Given the description of an element on the screen output the (x, y) to click on. 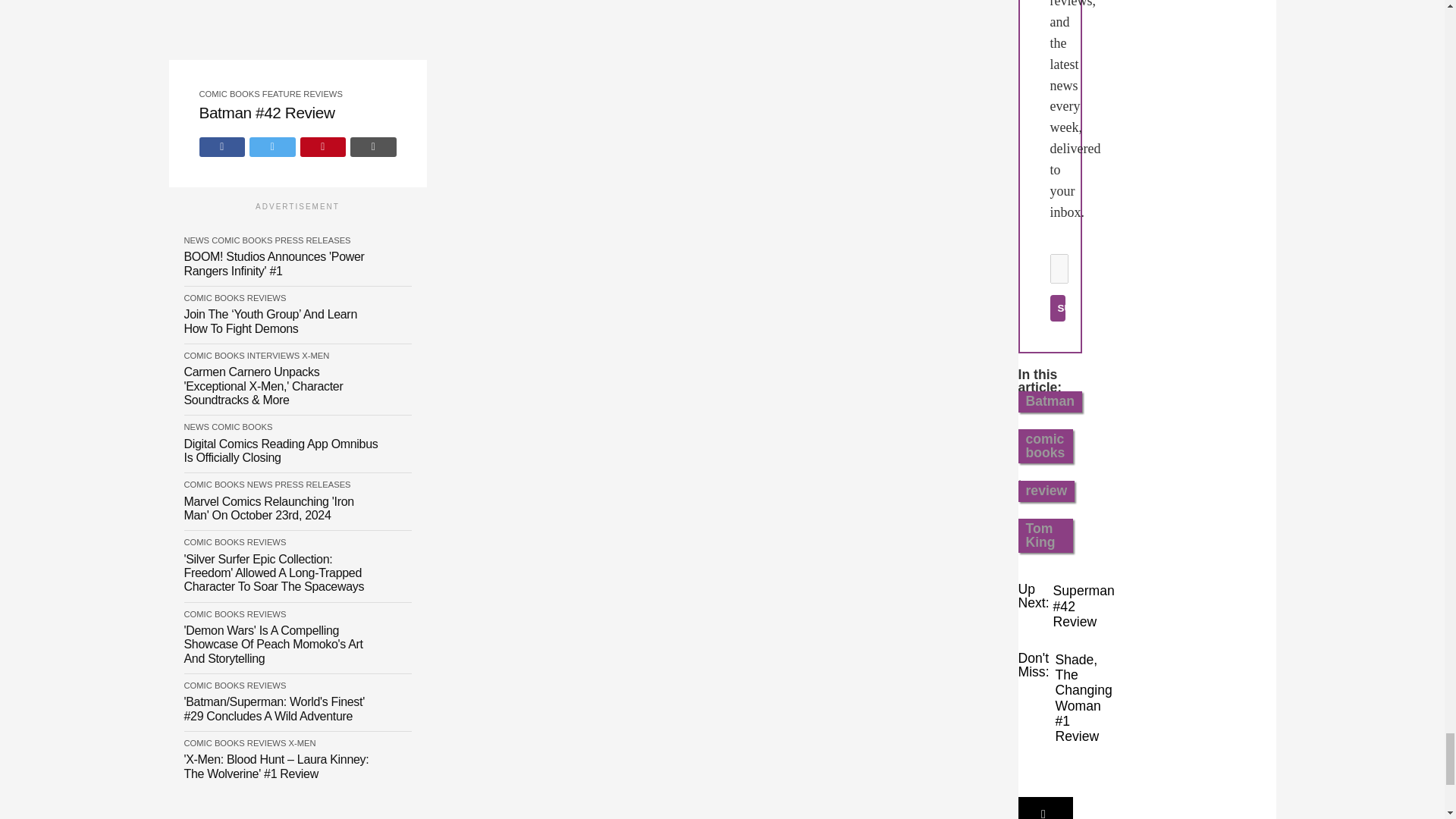
Subscribe (1056, 307)
